Given the description of an element on the screen output the (x, y) to click on. 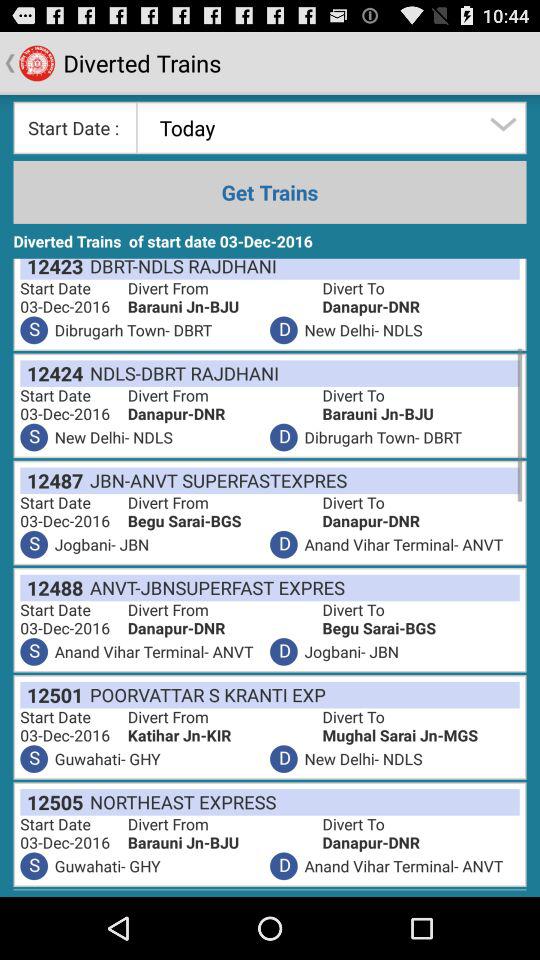
launch app below   s item (51, 373)
